Given the description of an element on the screen output the (x, y) to click on. 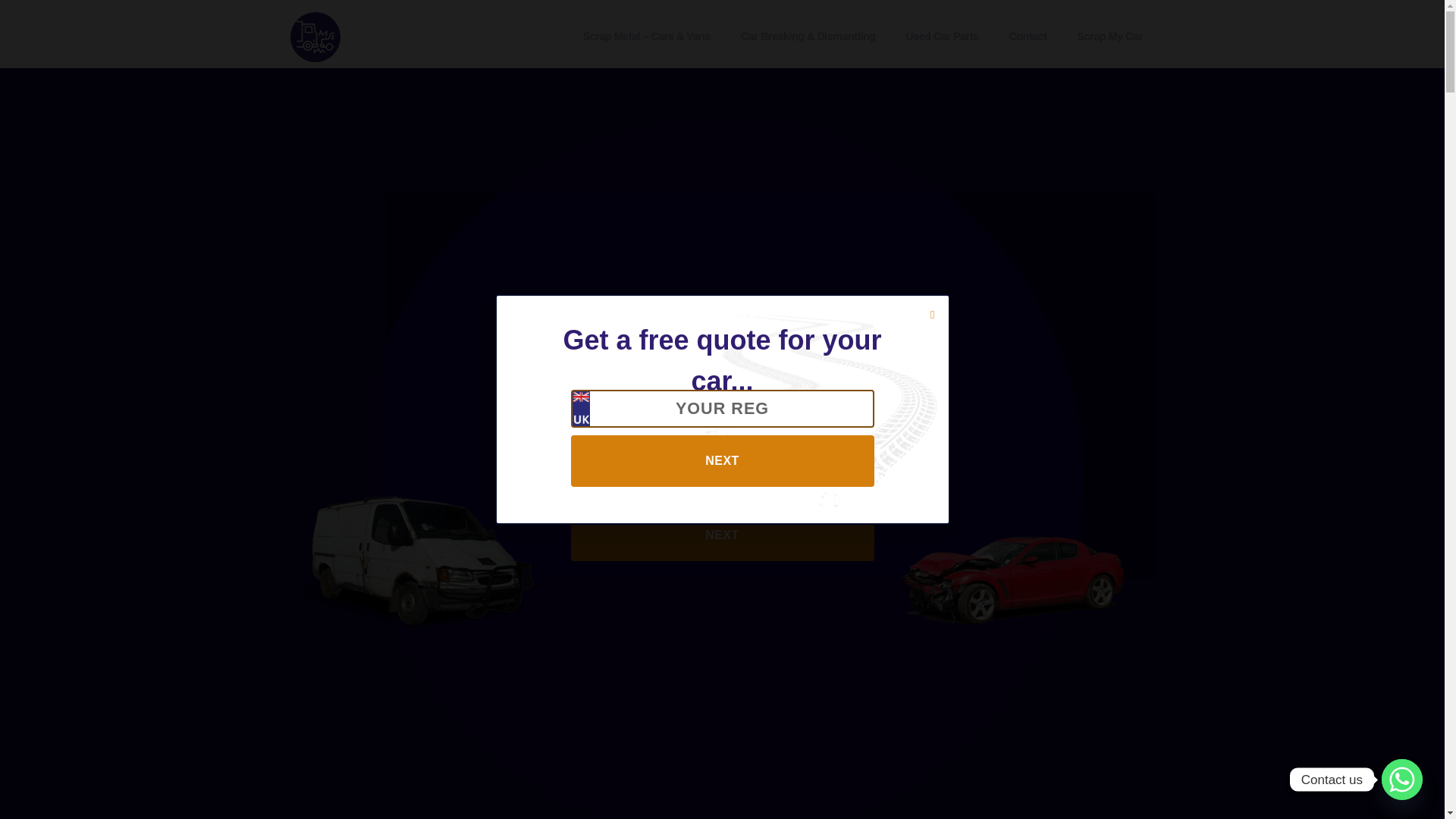
Scrap My Car (1109, 36)
Contact (1026, 36)
Used Car Parts (941, 36)
NEXT (721, 535)
